Given the description of an element on the screen output the (x, y) to click on. 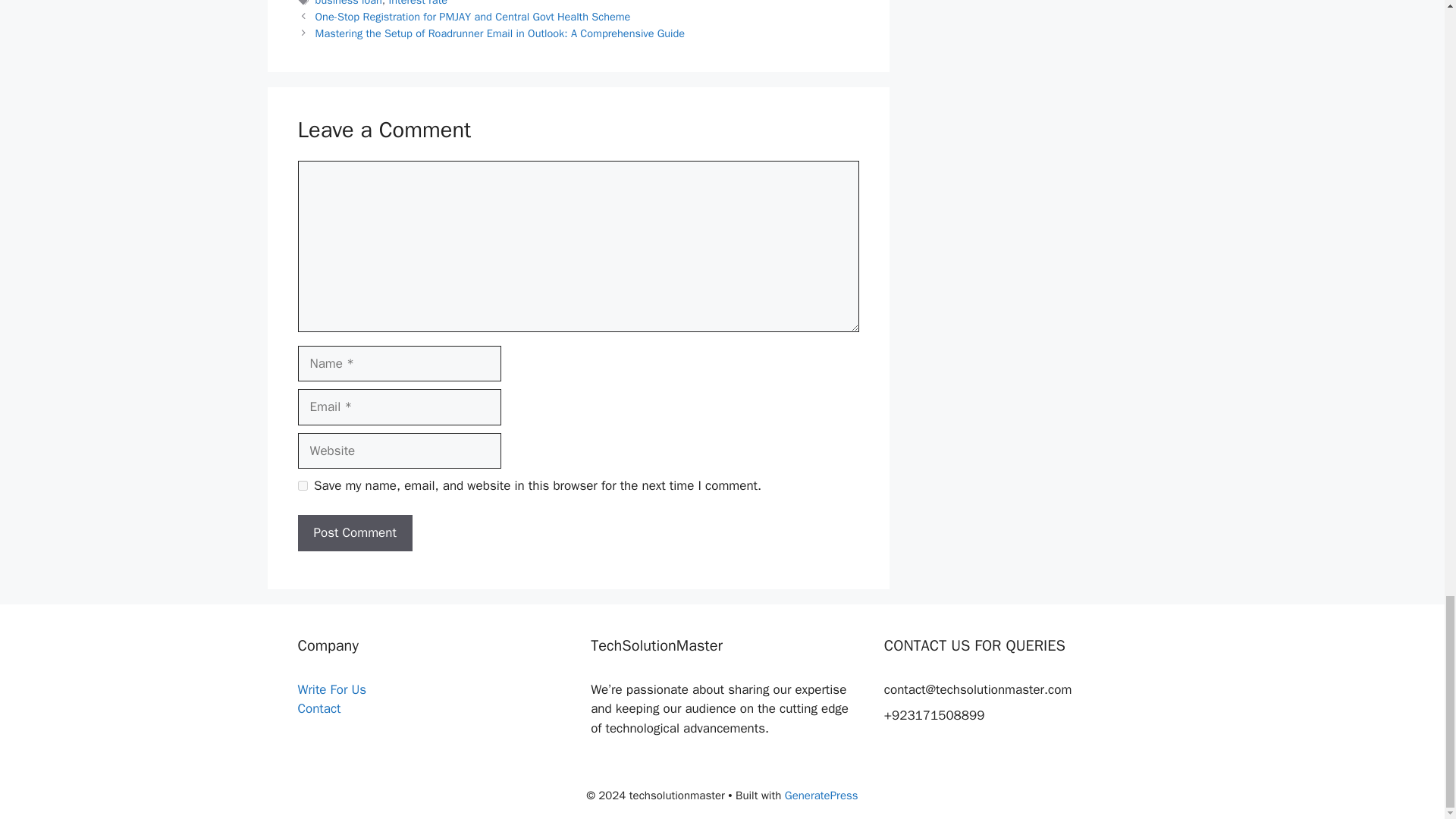
business loan (348, 3)
GeneratePress (821, 795)
Interest rate (417, 3)
yes (302, 485)
Post Comment (354, 533)
Write For Us (331, 689)
Contact (318, 708)
Post Comment (354, 533)
